Given the description of an element on the screen output the (x, y) to click on. 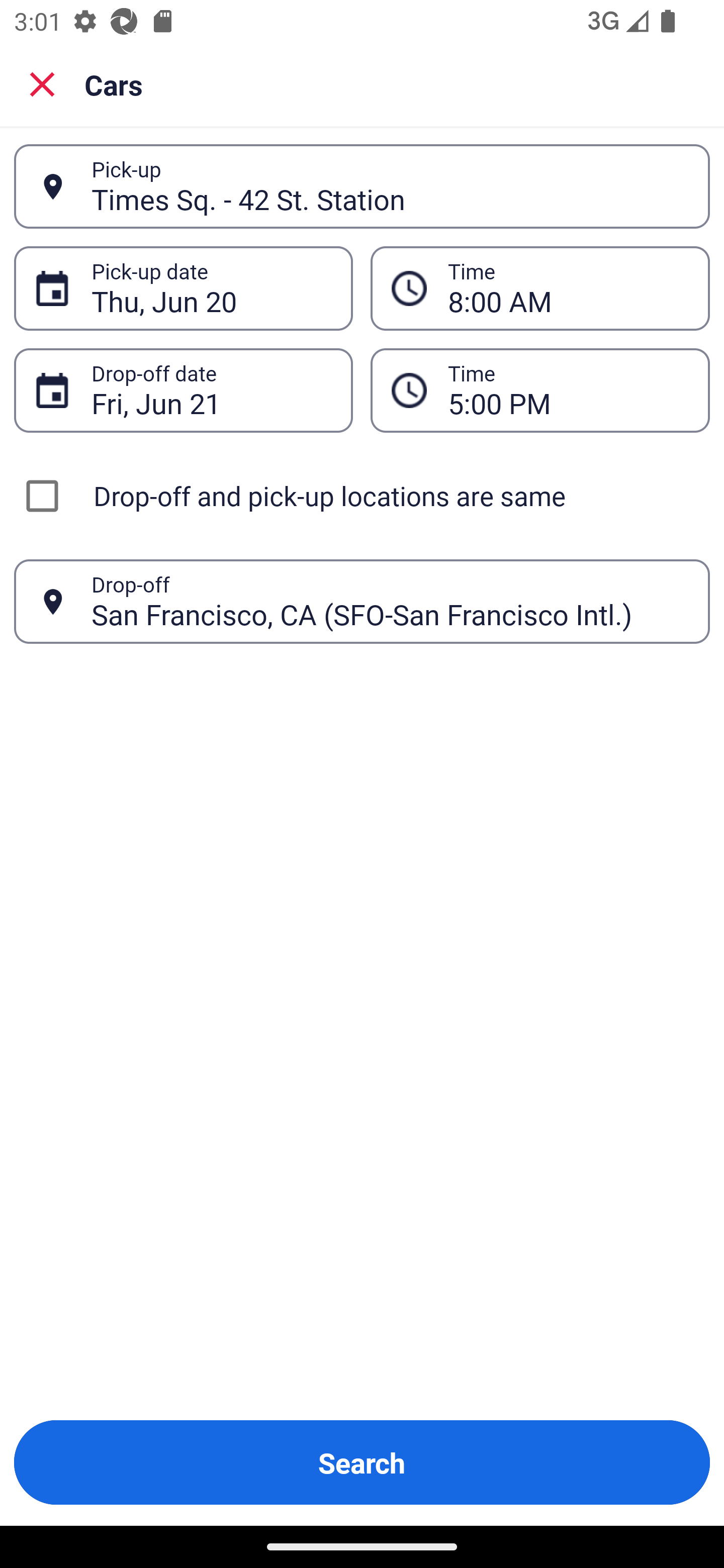
Close search screen (41, 83)
Times Sq. - 42 St. Station Pick-up (361, 186)
Times Sq. - 42 St. Station (389, 186)
Thu, Jun 20 Pick-up date (183, 288)
8:00 AM (540, 288)
Thu, Jun 20 (211, 288)
8:00 AM (568, 288)
Fri, Jun 21 Drop-off date (183, 390)
5:00 PM (540, 390)
Fri, Jun 21 (211, 390)
5:00 PM (568, 390)
Drop-off and pick-up locations are same (361, 495)
San Francisco, CA (SFO-San Francisco Intl.) (389, 601)
Search Button Search (361, 1462)
